Given the description of an element on the screen output the (x, y) to click on. 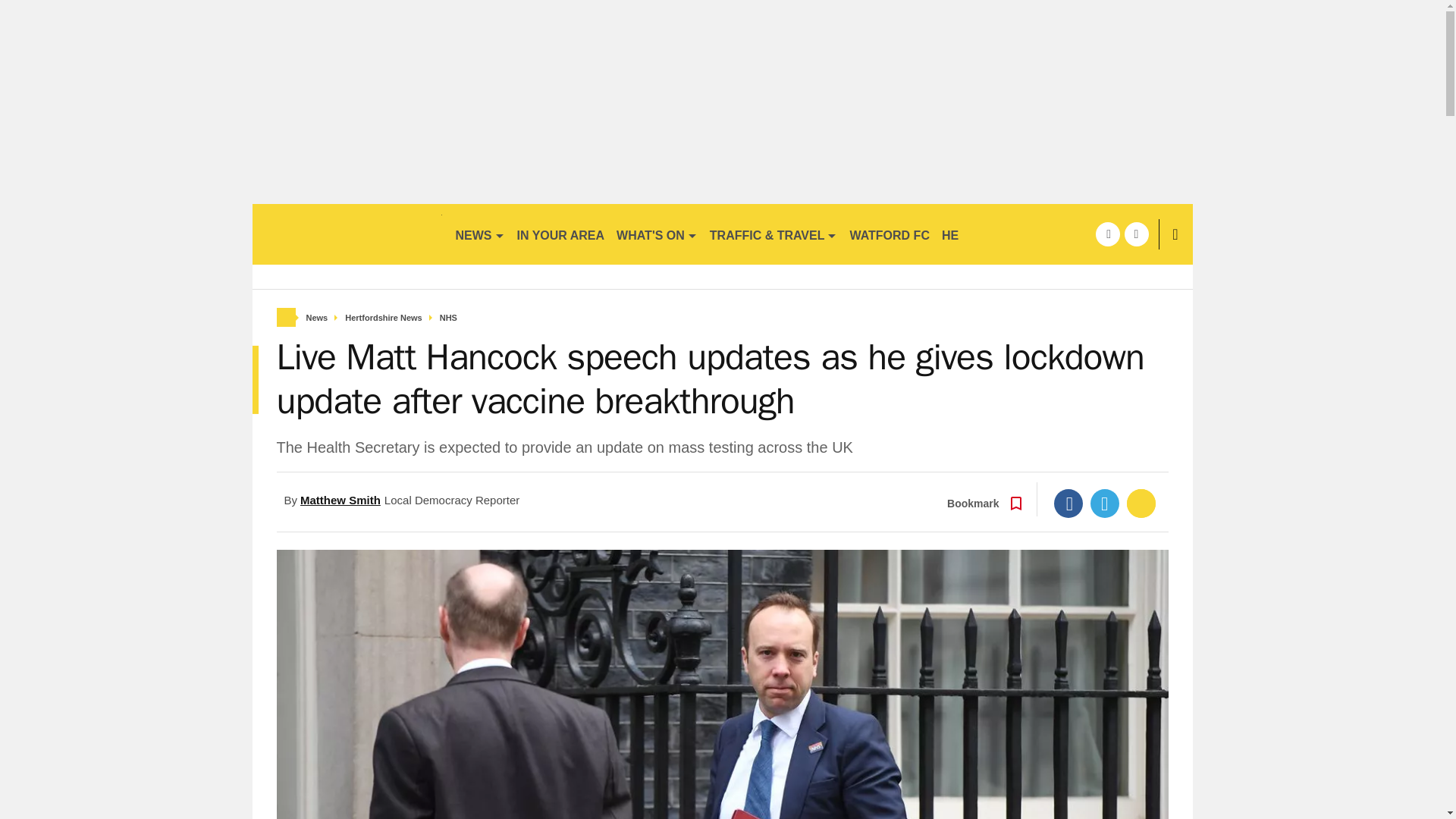
HEMEL HEMPSTEAD (1003, 233)
twitter (1136, 233)
WATFORD FC (888, 233)
WHAT'S ON (656, 233)
facebook (1106, 233)
hertfordshiremercury (346, 233)
Facebook (1068, 502)
NEWS (479, 233)
Twitter (1104, 502)
IN YOUR AREA (561, 233)
